Given the description of an element on the screen output the (x, y) to click on. 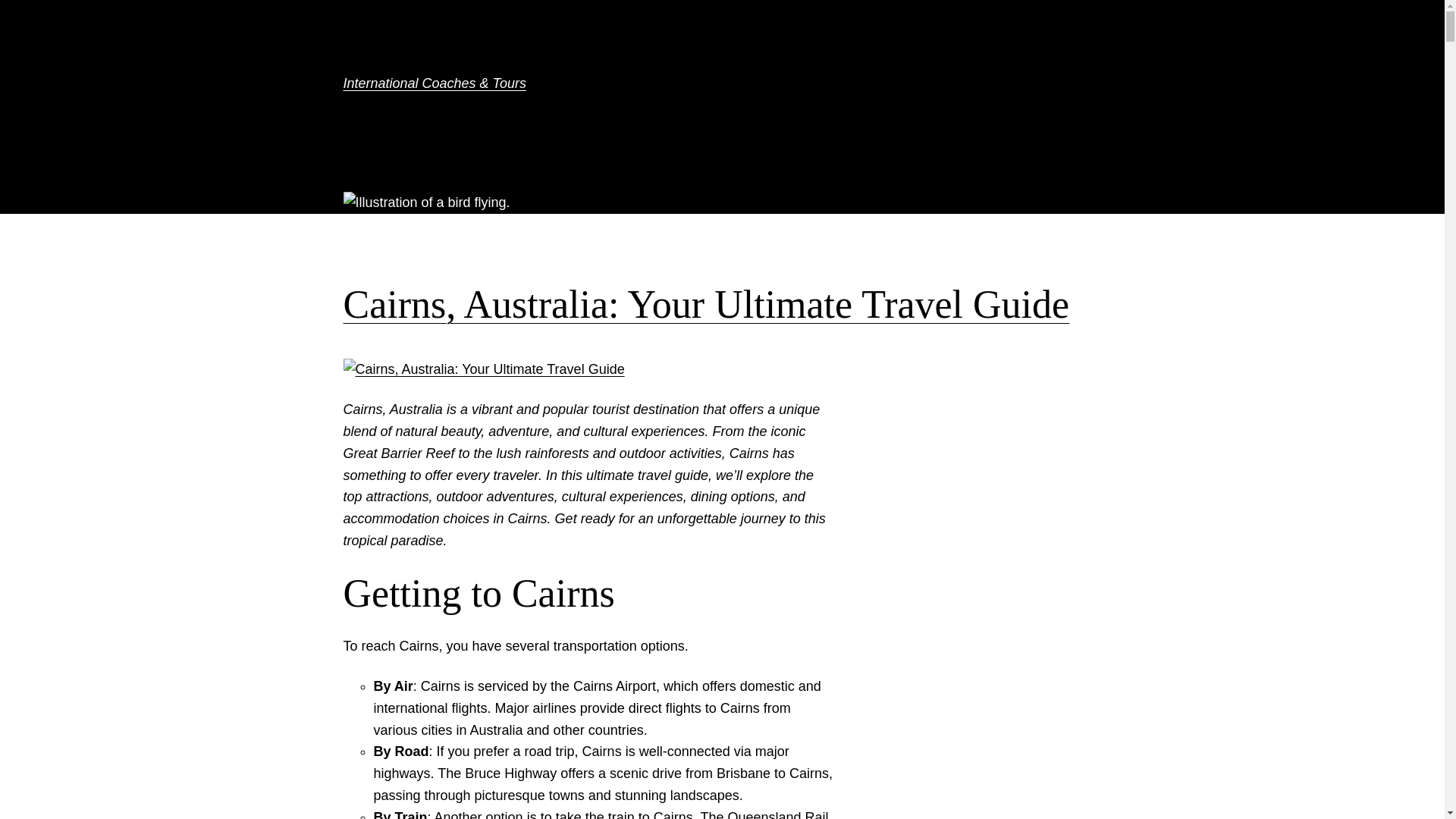
Cairns, Australia: Your Ultimate Travel Guide Element type: text (705, 304)
International Coaches & Tours Element type: text (433, 83)
